Given the description of an element on the screen output the (x, y) to click on. 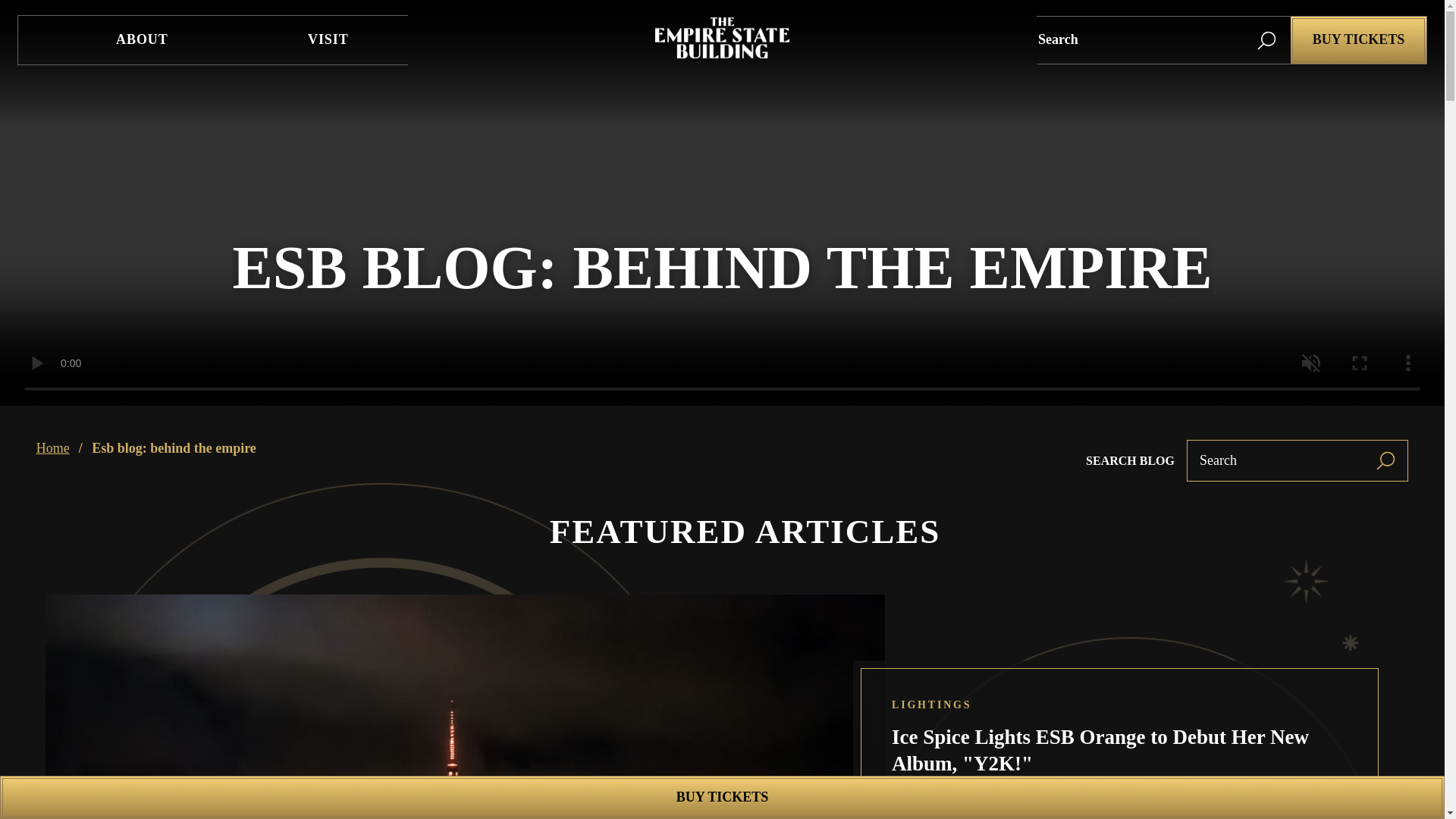
ABOUT (141, 39)
VISIT (328, 39)
Home (722, 53)
Enter the terms you wish to search for. (1141, 39)
